Given the description of an element on the screen output the (x, y) to click on. 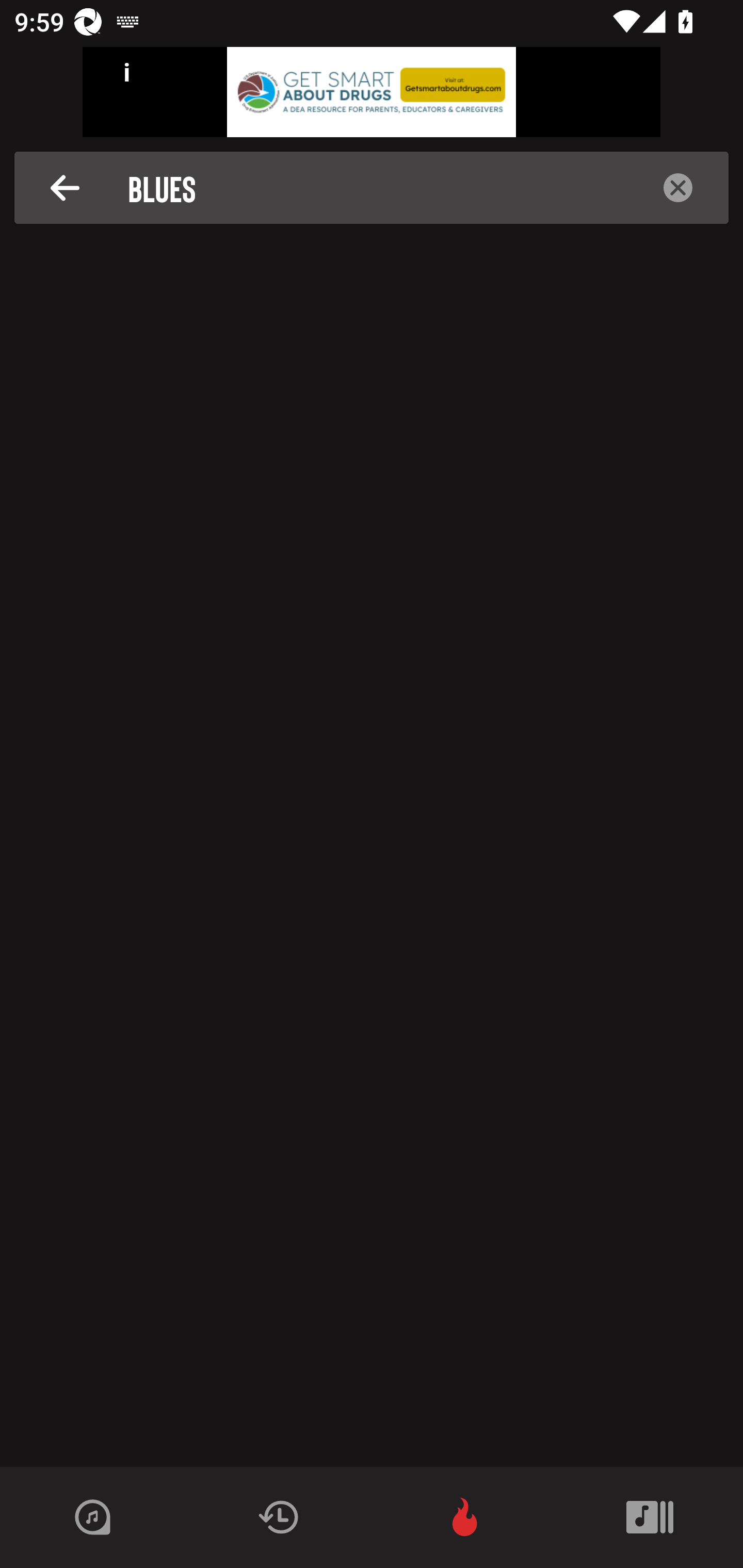
Blues (377, 188)
Description (64, 188)
Description (677, 188)
